Given the description of an element on the screen output the (x, y) to click on. 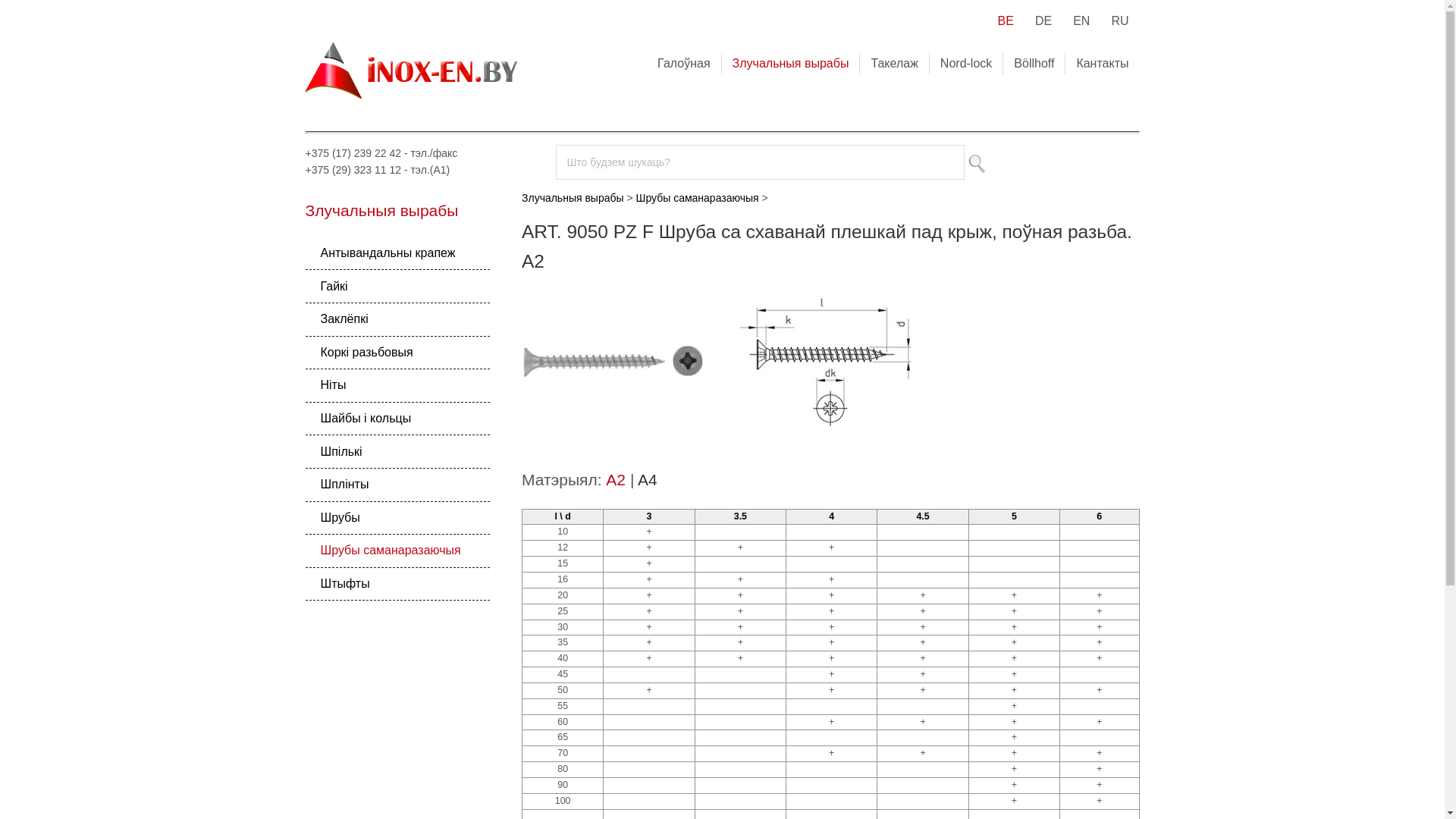
RU Element type: text (1119, 20)
DE Element type: text (1043, 20)
Nord-lock Element type: text (965, 62)
EN Element type: text (1081, 20)
A4 Element type: text (647, 479)
A2 Element type: text (615, 479)
